Given the description of an element on the screen output the (x, y) to click on. 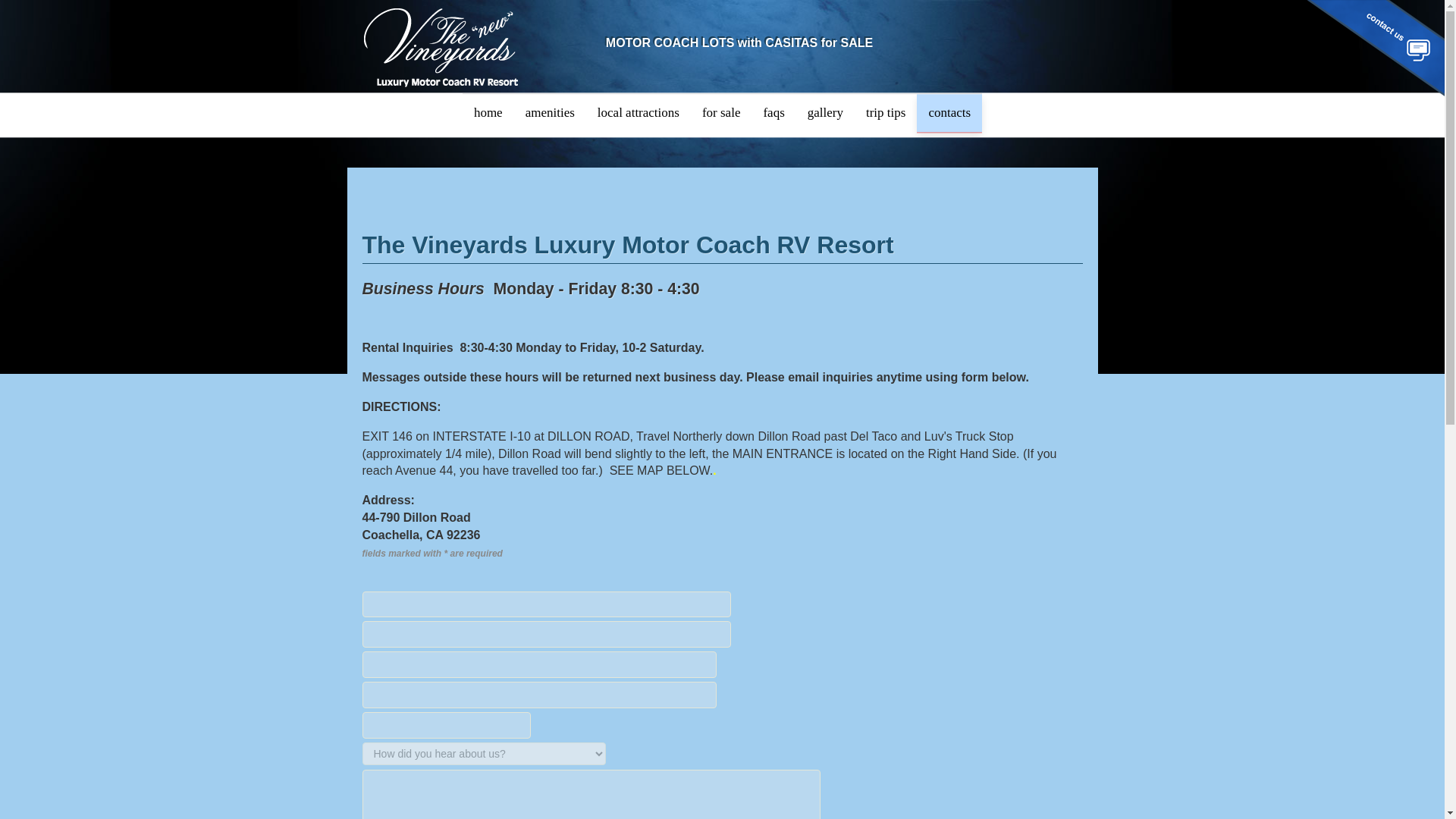
city (539, 664)
fill in your name (546, 604)
faqs (772, 112)
phone number with area code (446, 724)
local attractions (638, 112)
trip tips (885, 112)
valid email address (546, 633)
gallery (825, 112)
include any additional information here (591, 794)
state (539, 694)
home (488, 112)
amenities (549, 112)
contacts (949, 112)
for sale (721, 112)
